Given the description of an element on the screen output the (x, y) to click on. 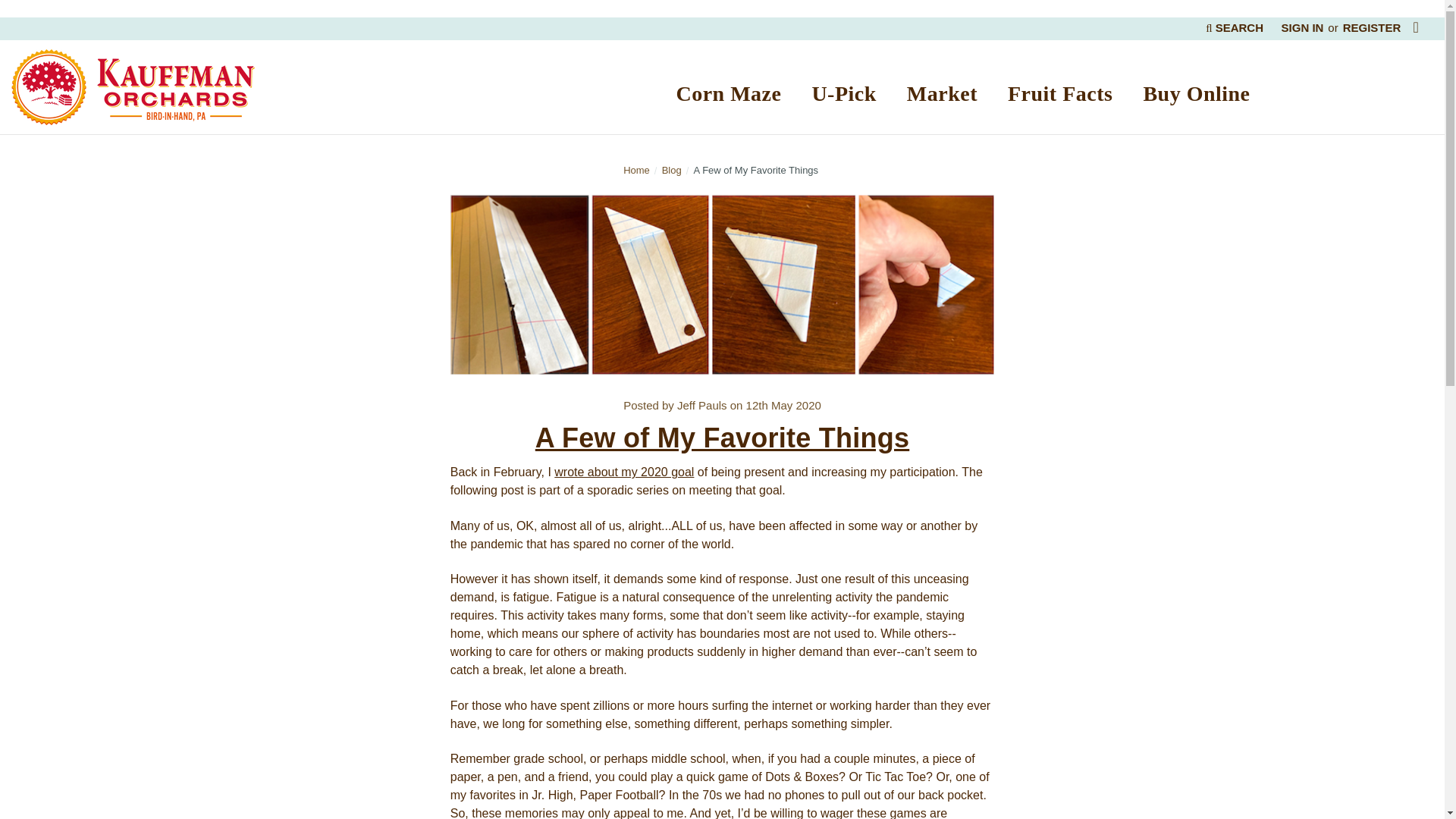
Corn Maze (728, 95)
Buy Online (1195, 95)
SEARCH (1233, 27)
Fruit Facts (1059, 95)
REGISTER (1371, 27)
A Few of My Favorite Things (721, 284)
U-Pick (843, 95)
Kauffman Orchards (132, 86)
SIGN IN (1302, 27)
Market (941, 95)
